Given the description of an element on the screen output the (x, y) to click on. 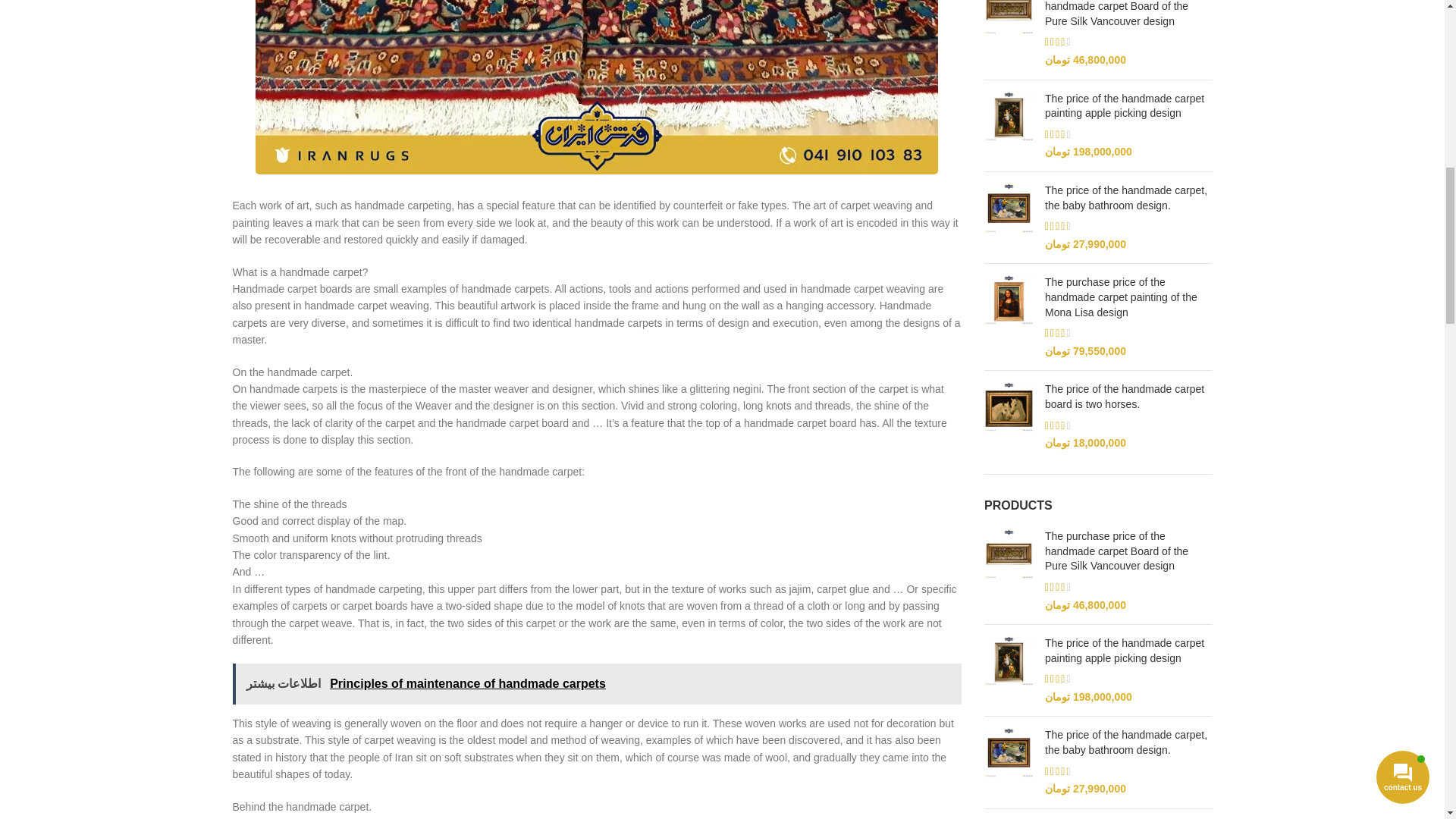
The price of the handmade carpet, the baby bathroom design. (1008, 217)
The price of the handmade carpet, the baby bathroom design. (1128, 197)
